Given the description of an element on the screen output the (x, y) to click on. 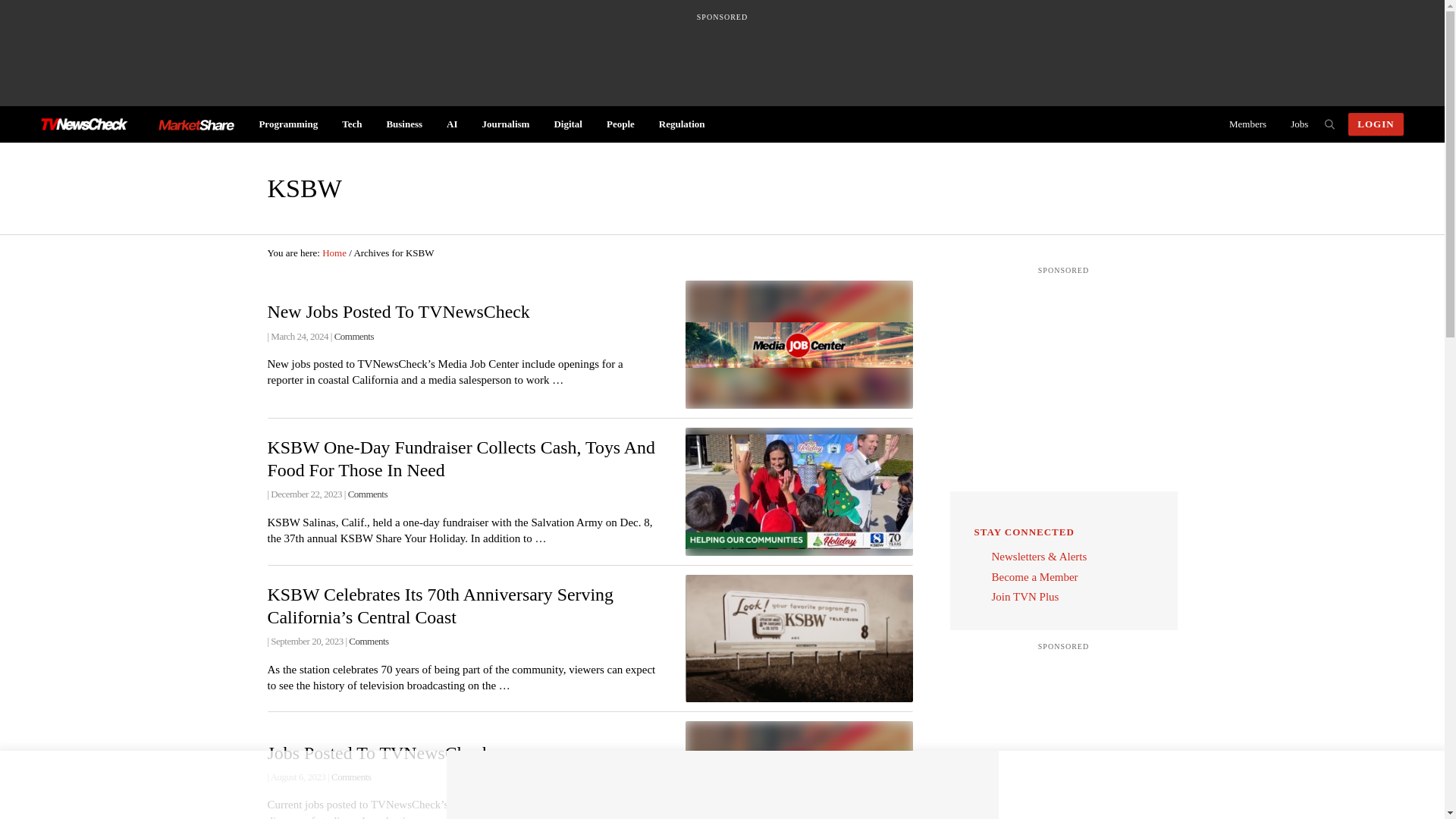
Comments (367, 493)
Programming (288, 124)
Comments (354, 335)
People (620, 124)
Home (333, 252)
Tech (352, 124)
AI (450, 124)
3rd party ad content (1063, 736)
Regulation (681, 124)
Journalism (505, 124)
Digital (567, 124)
LOGIN (1375, 124)
Members (1247, 124)
Business (403, 124)
